Given the description of an element on the screen output the (x, y) to click on. 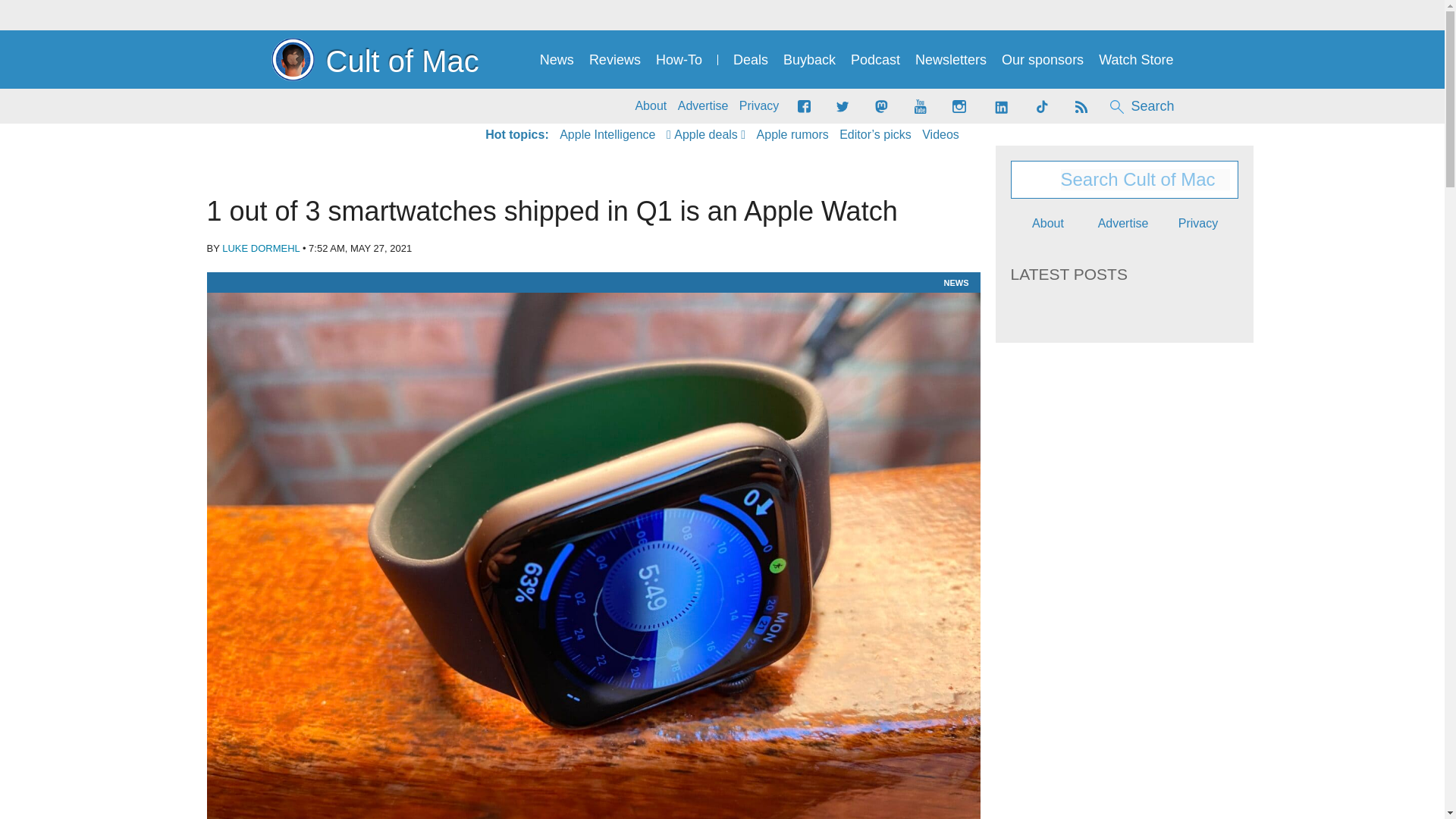
Hot topics: (516, 134)
Posts by Luke Dormehl (260, 247)
News (556, 59)
Watch Store (1135, 59)
Apple legal battles (792, 134)
Our sponsors (1042, 59)
Advertise (703, 105)
Cult of Mac (374, 59)
Newsletters (950, 59)
Deals (750, 59)
Apple Intelligence (607, 134)
Podcast (875, 59)
Videos (940, 134)
Privacy (758, 105)
